Given the description of an element on the screen output the (x, y) to click on. 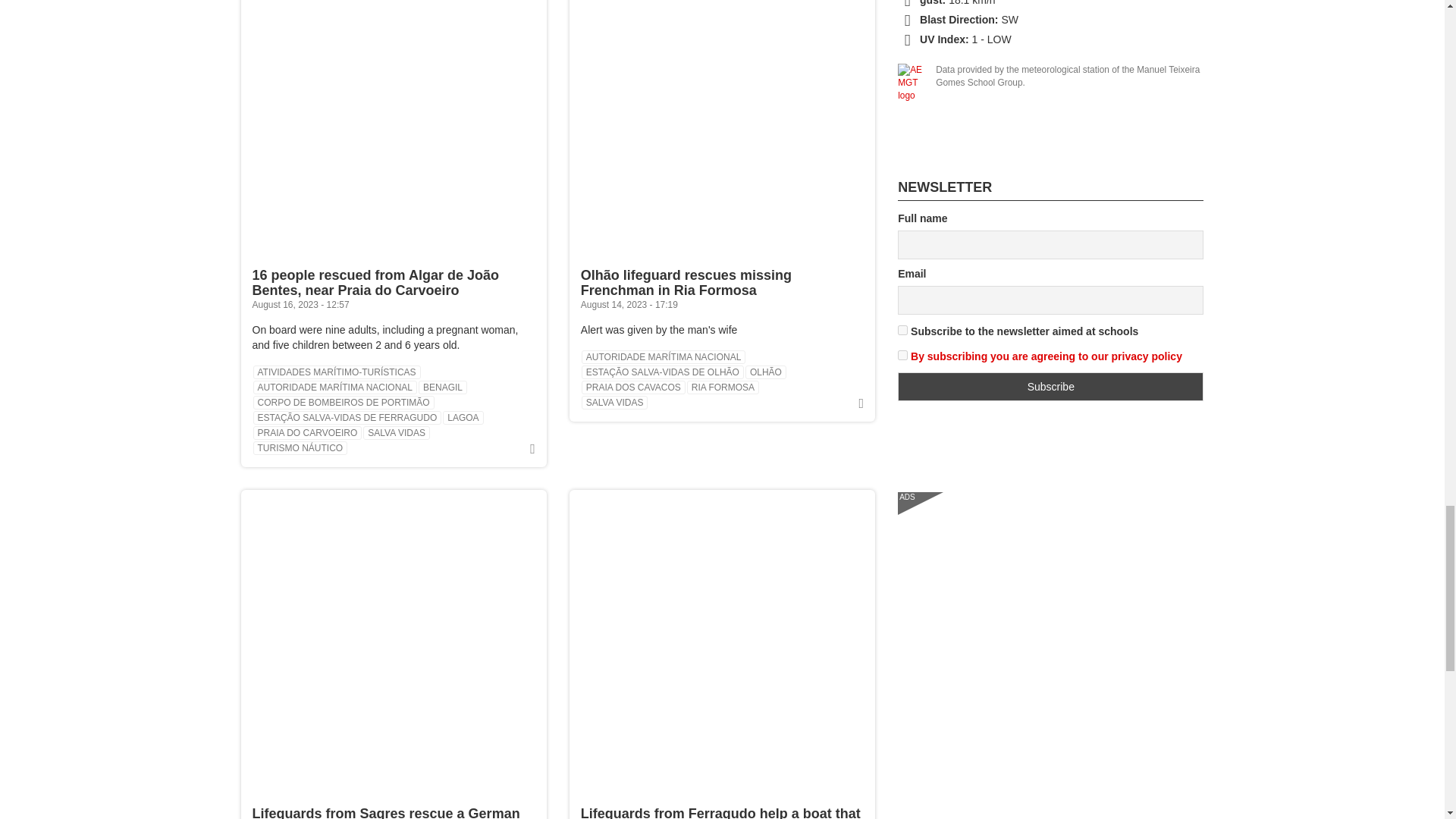
1 (902, 329)
on (902, 355)
Subscribe (1051, 386)
